Given the description of an element on the screen output the (x, y) to click on. 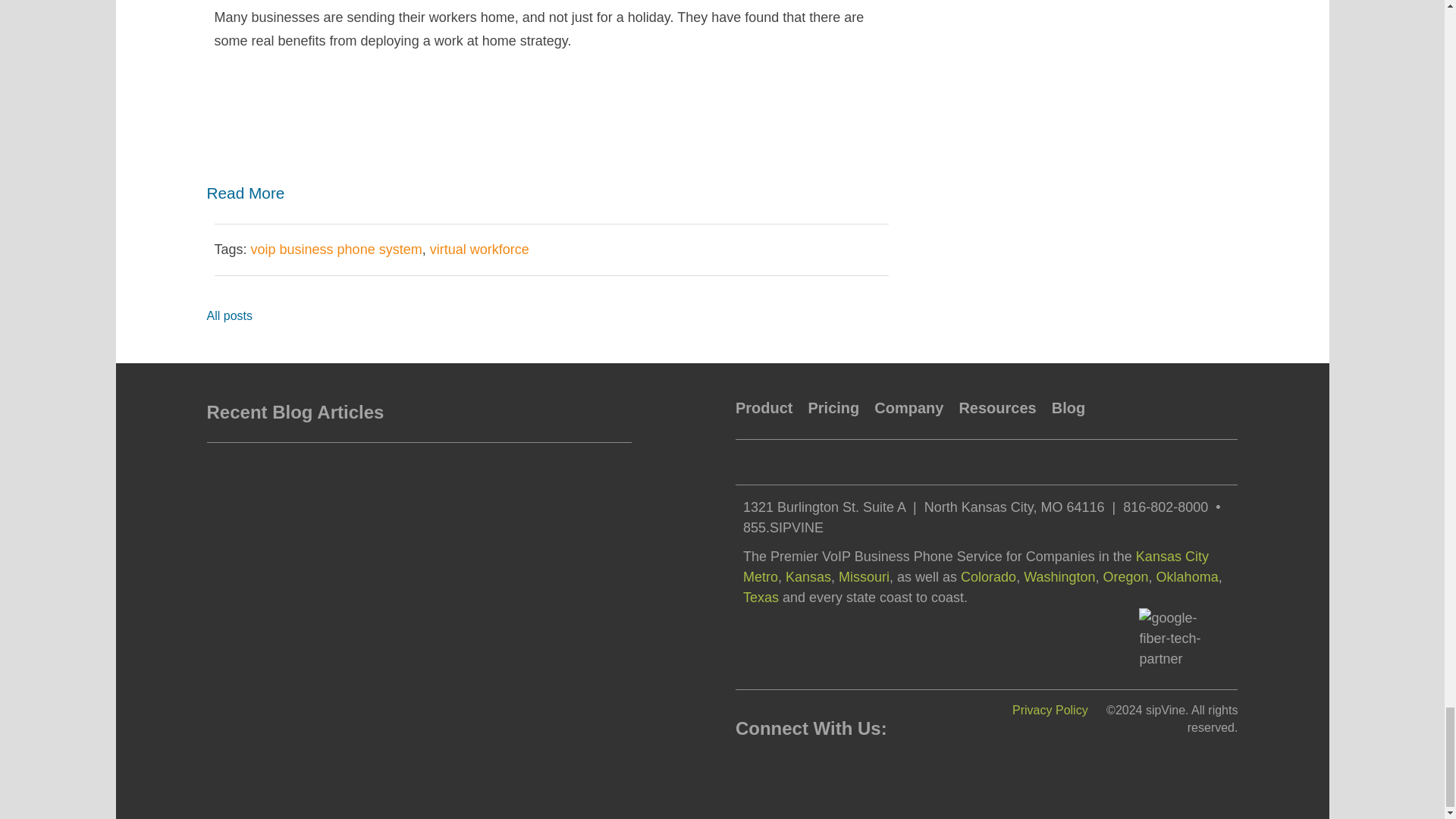
Follow us on Facebook (747, 767)
Follow us on Linkedin (772, 767)
Follow us on Twitter (796, 767)
